Given the description of an element on the screen output the (x, y) to click on. 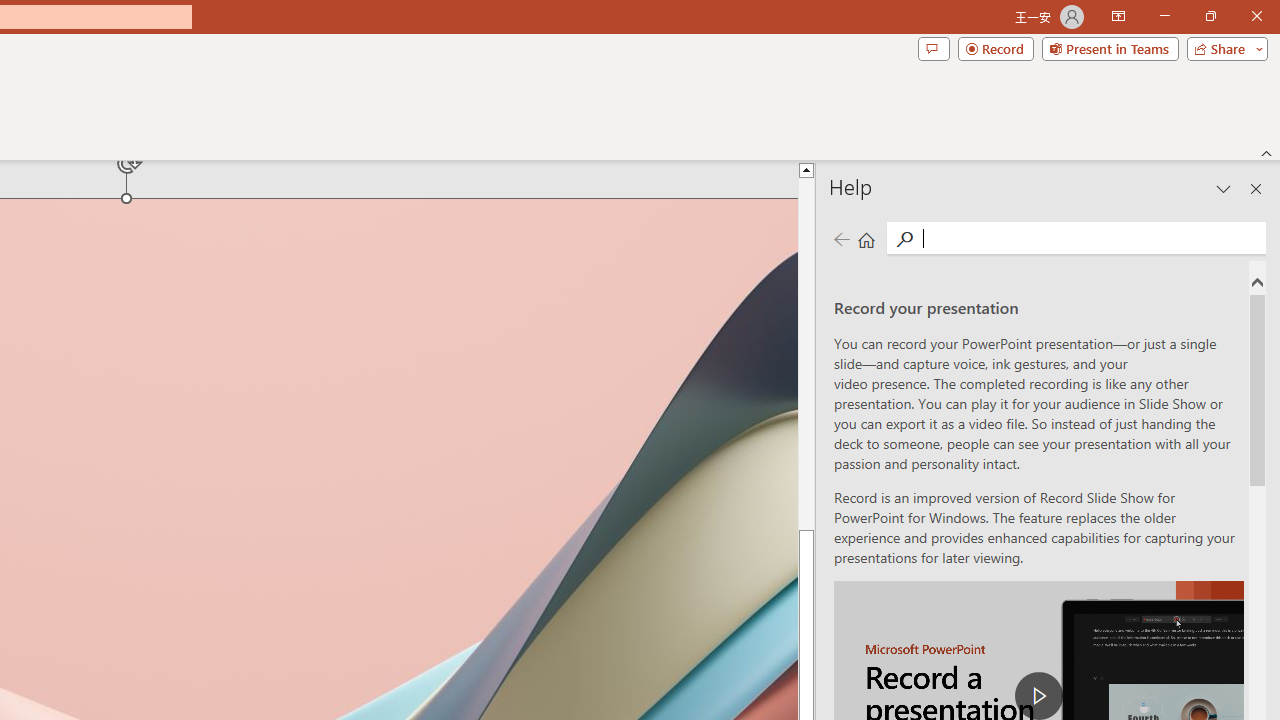
Home (866, 238)
Page up (806, 353)
Close pane (1256, 188)
